Given the description of an element on the screen output the (x, y) to click on. 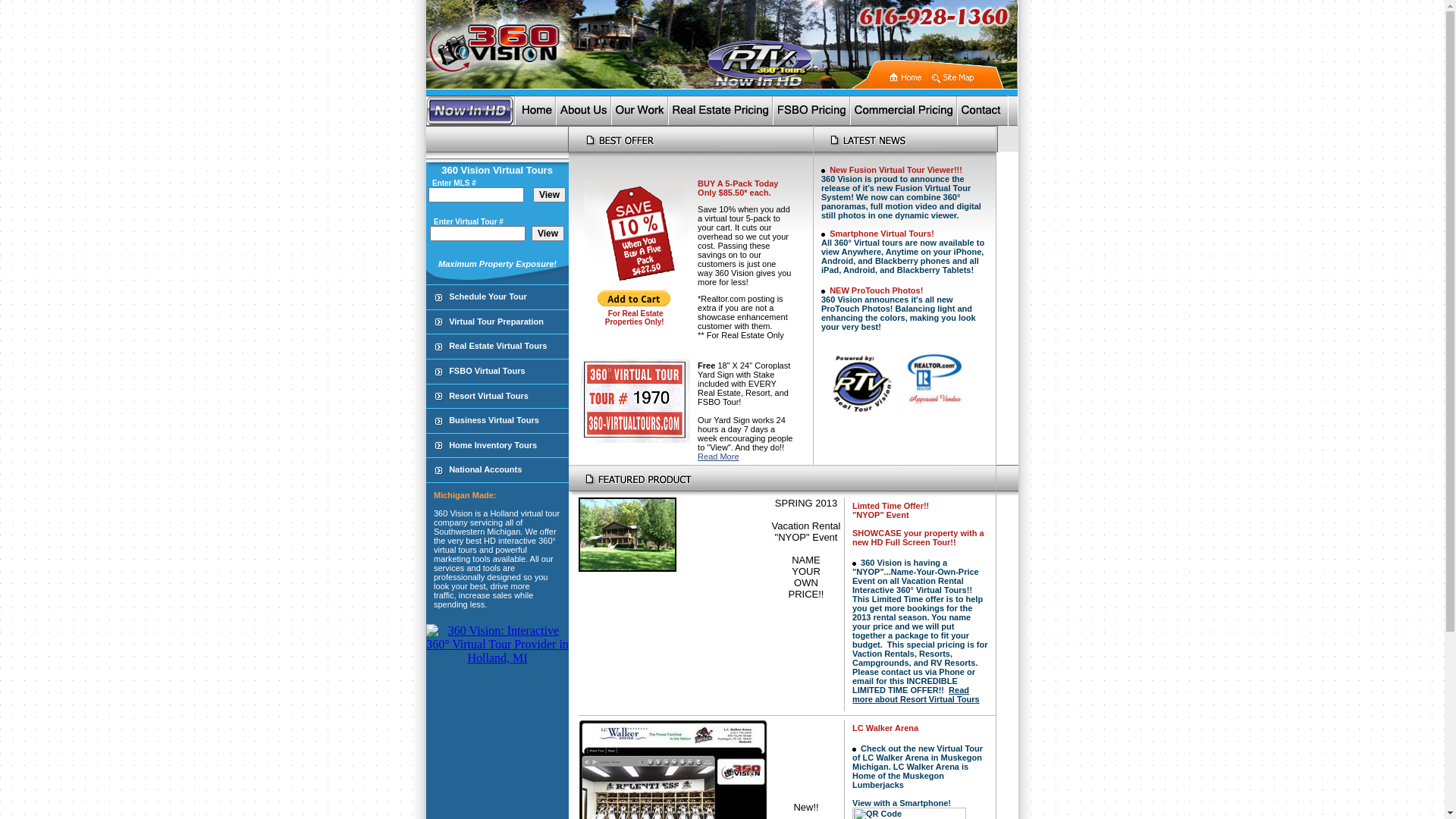
Resort Virtual Tours Element type: text (488, 395)
Home Inventory Tours Element type: text (492, 444)
Read more about Resort Virtual Tours Element type: text (915, 694)
FSBO Virtual Tours Element type: text (486, 370)
Real Estate Virtual Tours Element type: text (497, 345)
View Element type: text (547, 233)
Schedule Your Tour Element type: text (487, 296)
View Element type: text (549, 194)
Business Virtual Tours Element type: text (493, 419)
Read More Element type: text (717, 456)
Virtual Tour Preparation Element type: text (495, 321)
National Accounts Element type: text (484, 468)
